Given the description of an element on the screen output the (x, y) to click on. 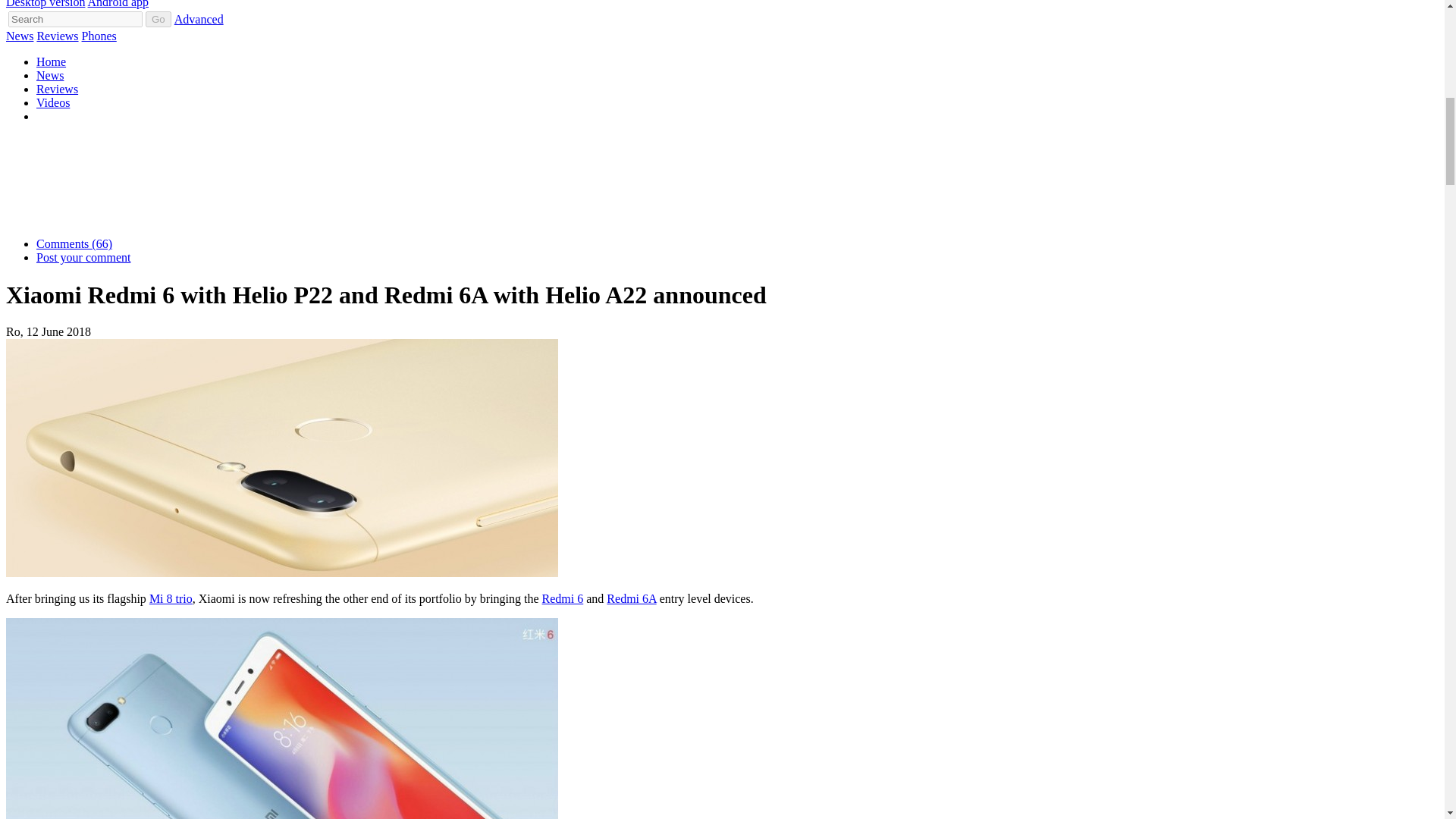
Submit (158, 19)
Advanced (199, 19)
Desktop version (44, 4)
Go (158, 19)
Android app (117, 4)
